Given the description of an element on the screen output the (x, y) to click on. 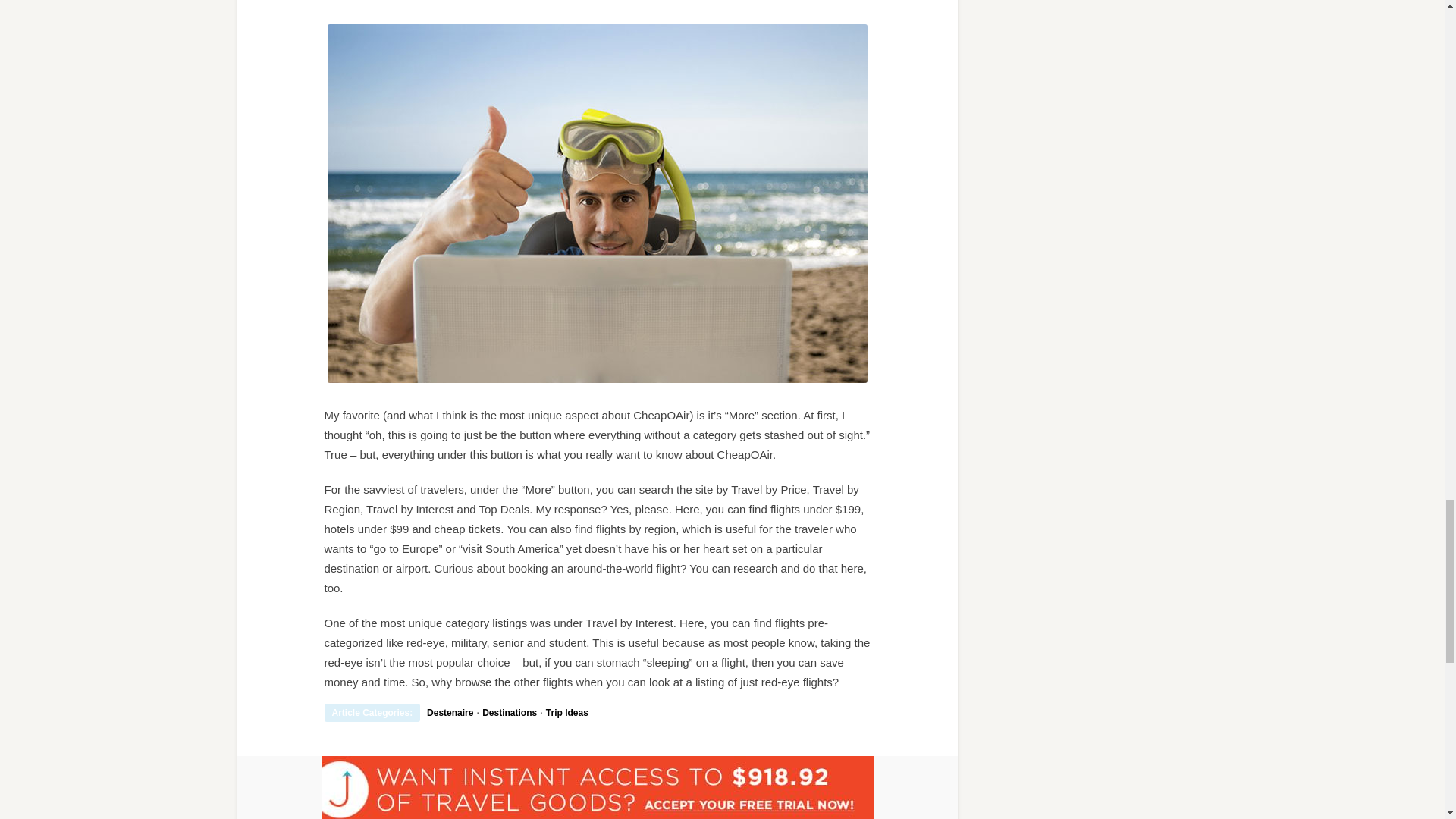
Destenaire (449, 712)
Trip Ideas (567, 712)
Destinations (509, 712)
